Given the description of an element on the screen output the (x, y) to click on. 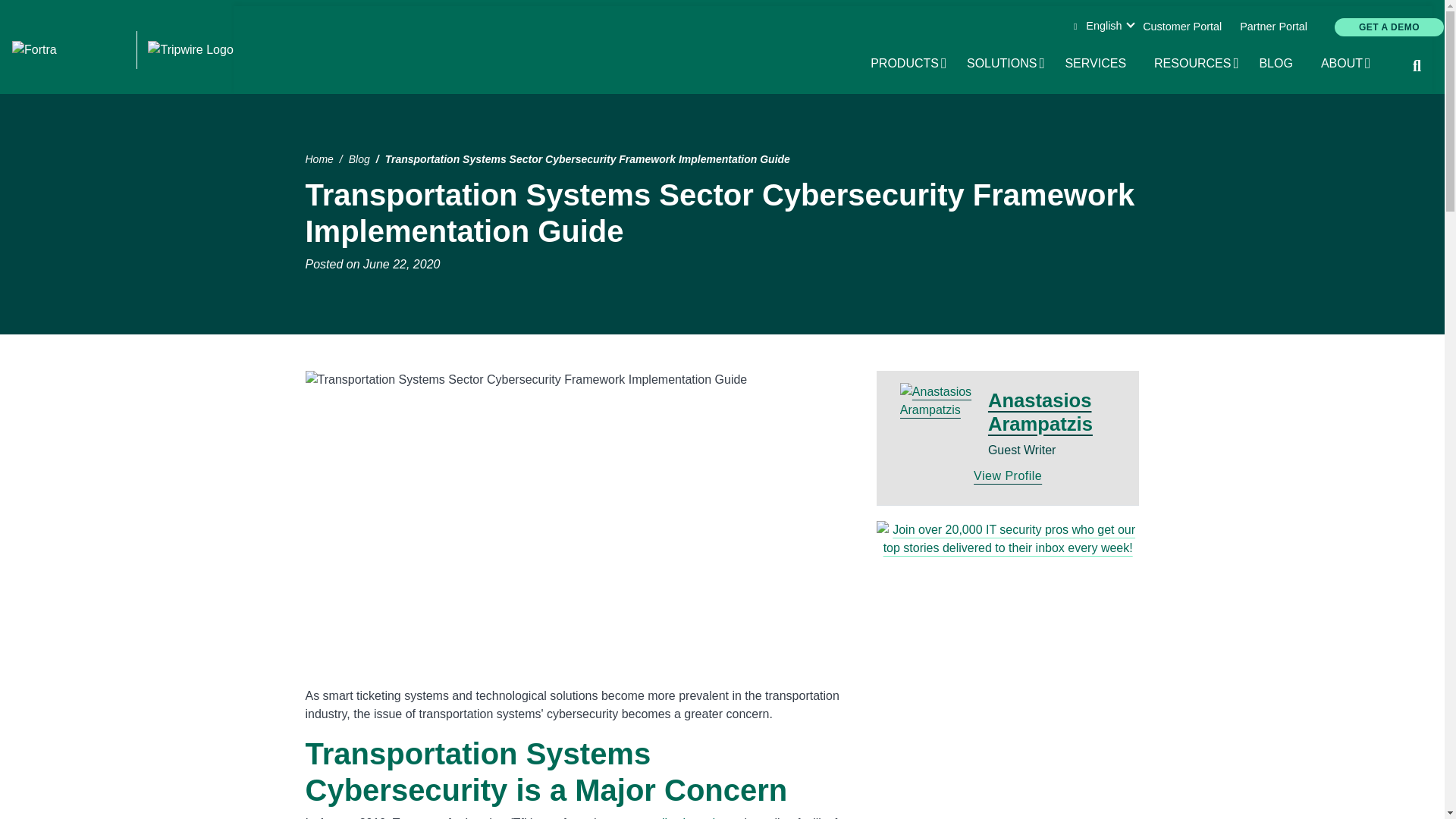
Skip to main content (721, 1)
SERVICES (1099, 63)
Home (121, 49)
Partner Portal (1006, 63)
Customer Portal (1346, 63)
BLOG (1273, 27)
GET A DEMO (1182, 27)
